Given the description of an element on the screen output the (x, y) to click on. 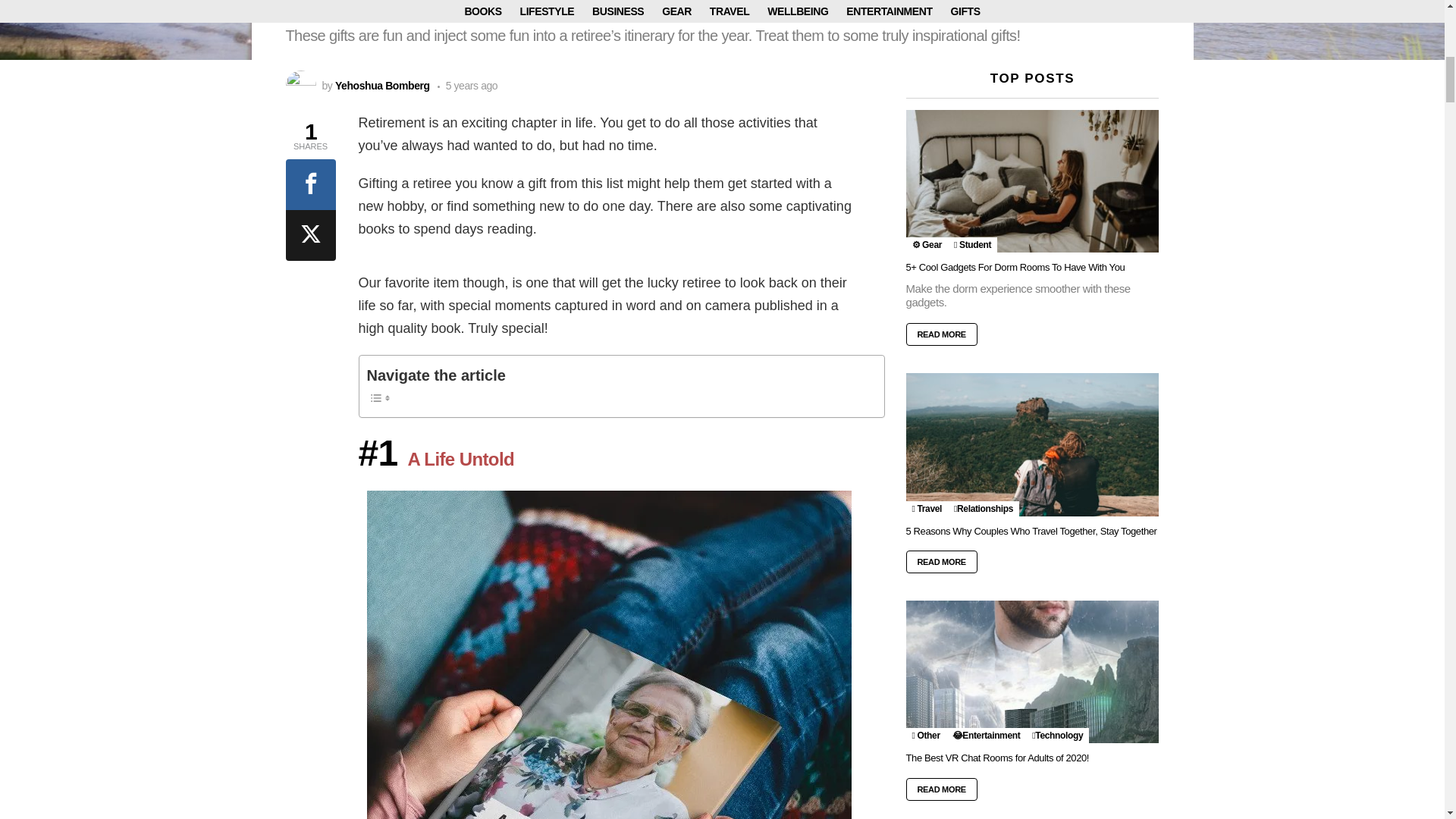
Yehoshua Bomberg (381, 85)
August 22, 2019, 1:43 am (467, 85)
Posts by Yehoshua Bomberg (381, 85)
